Given the description of an element on the screen output the (x, y) to click on. 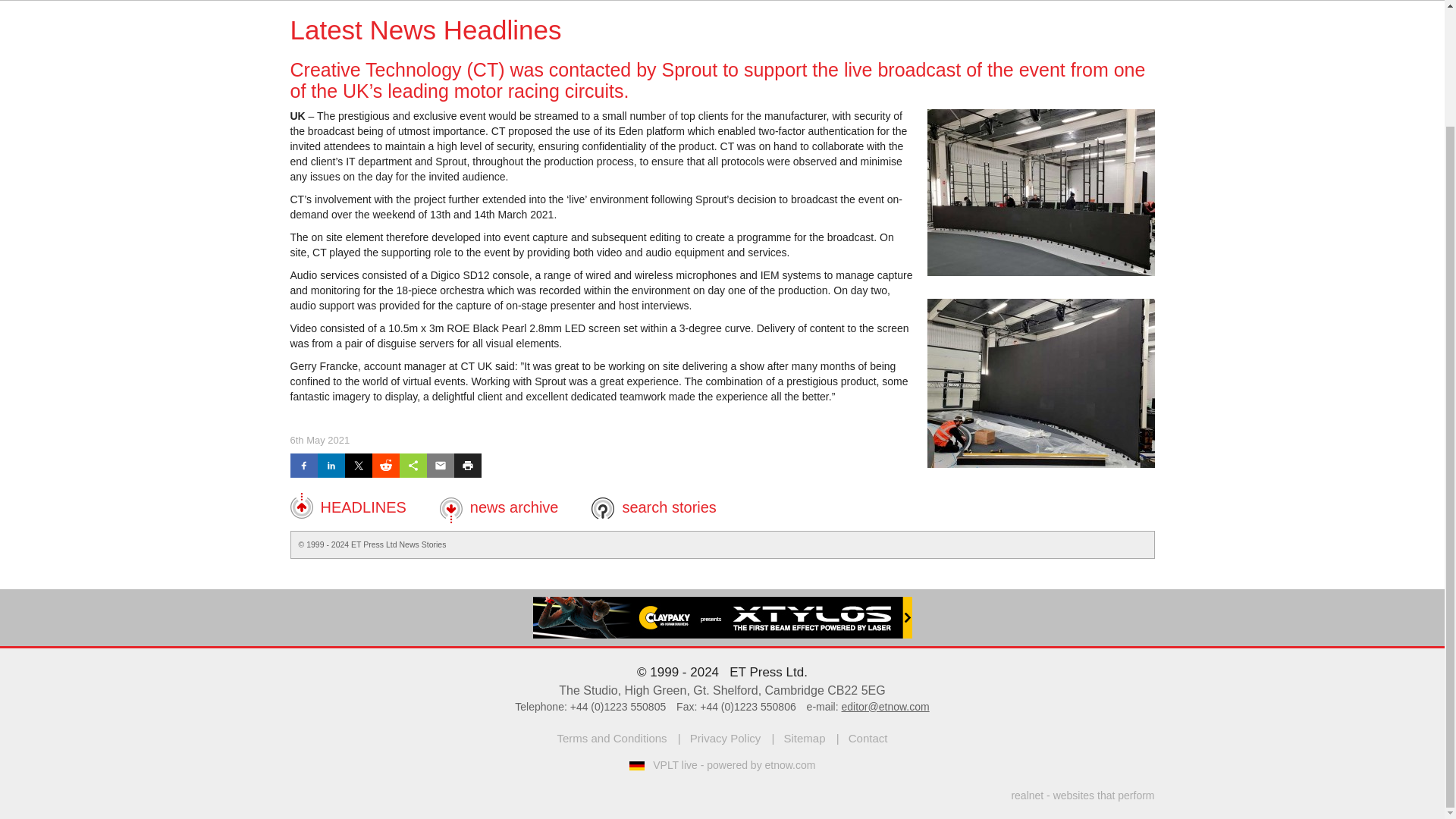
Terms and Conditions (611, 738)
Privacy Policy (725, 738)
Sitemap (804, 738)
Contact (868, 738)
